Given the description of an element on the screen output the (x, y) to click on. 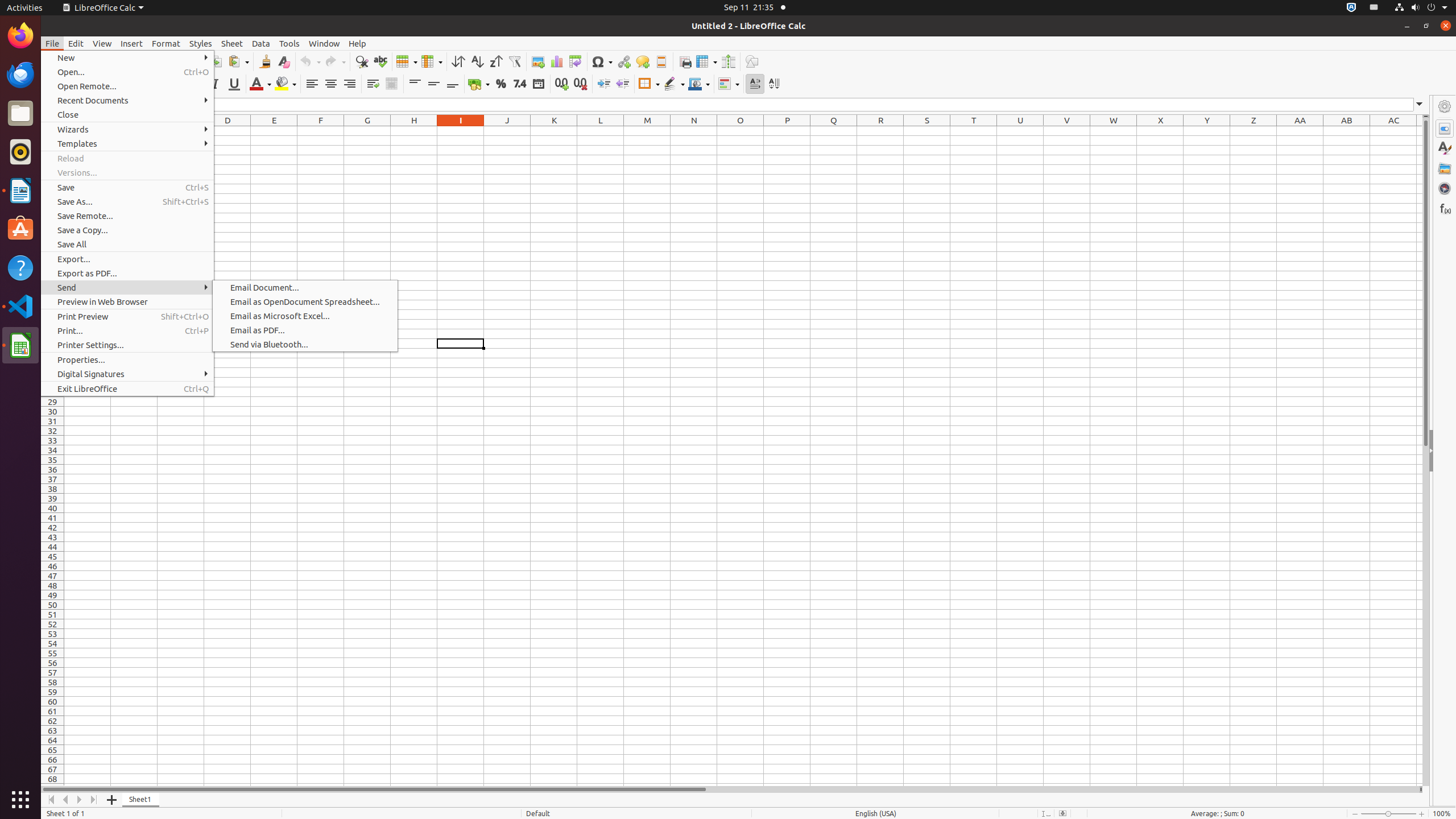
Freeze Rows and Columns Element type: push-button (705, 61)
Merge and Center Cells Element type: push-button (391, 83)
Align Right Element type: push-button (349, 83)
P1 Element type: table-cell (786, 130)
Properties Element type: panel (1444, 450)
